Given the description of an element on the screen output the (x, y) to click on. 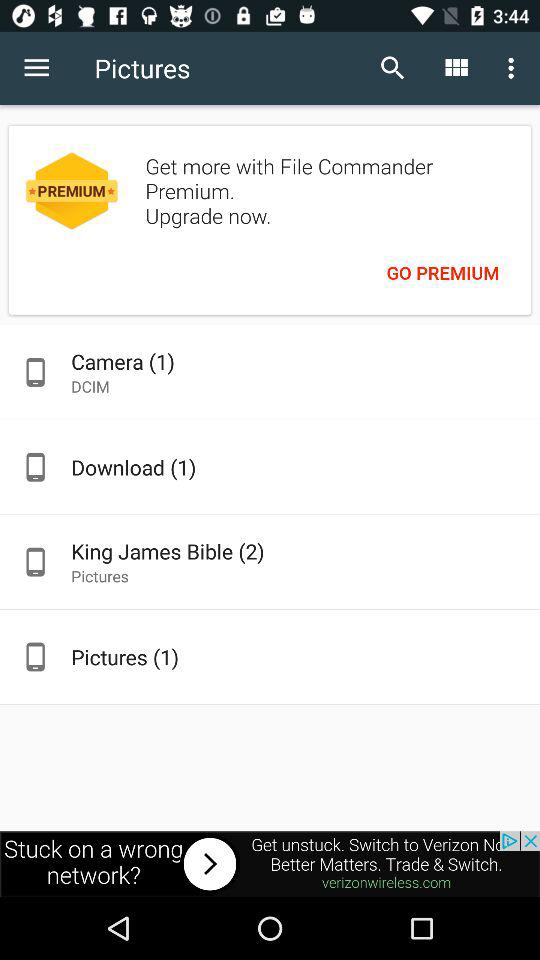
advatisment (270, 864)
